Given the description of an element on the screen output the (x, y) to click on. 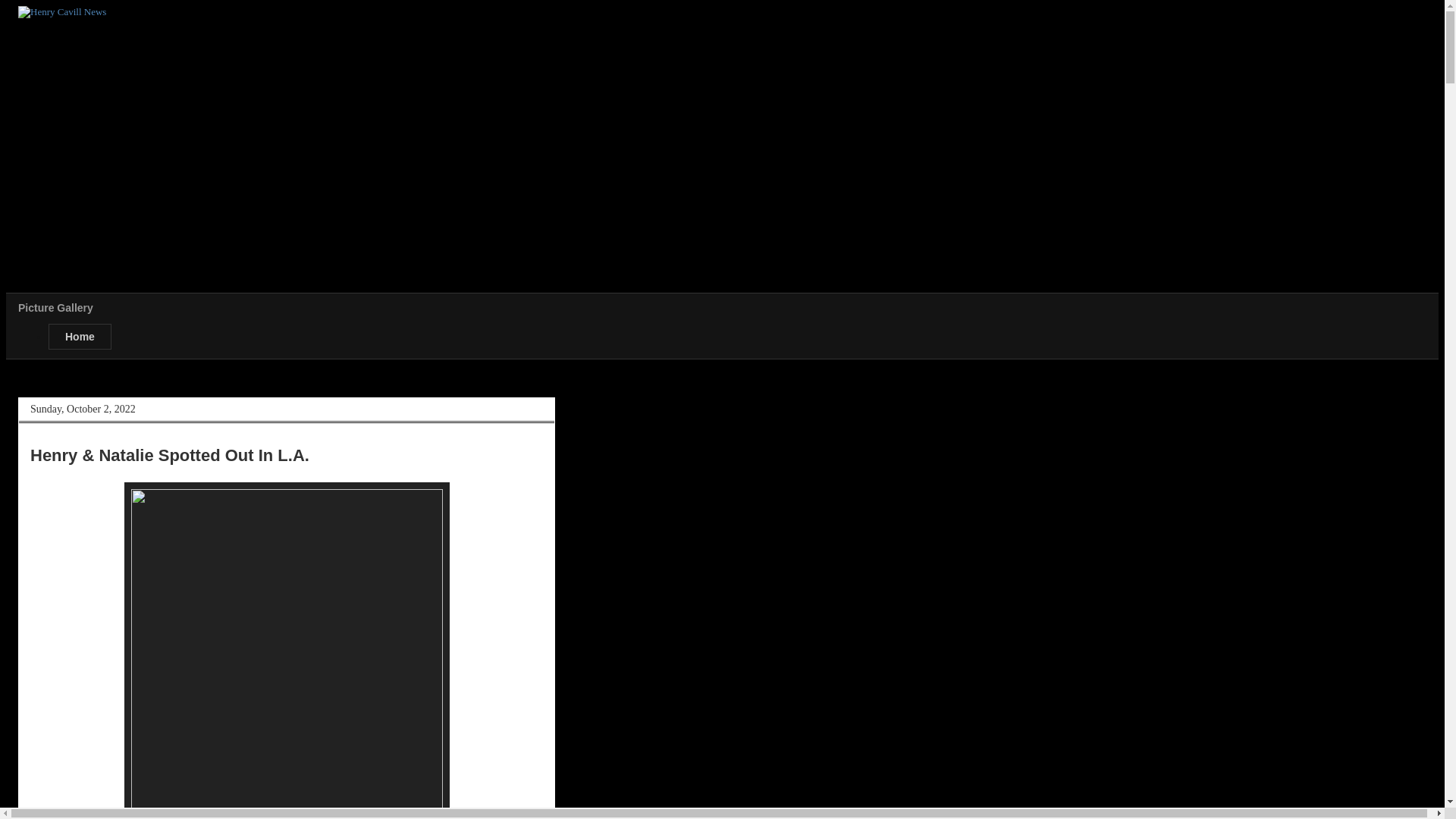
Home (80, 336)
